Given the description of an element on the screen output the (x, y) to click on. 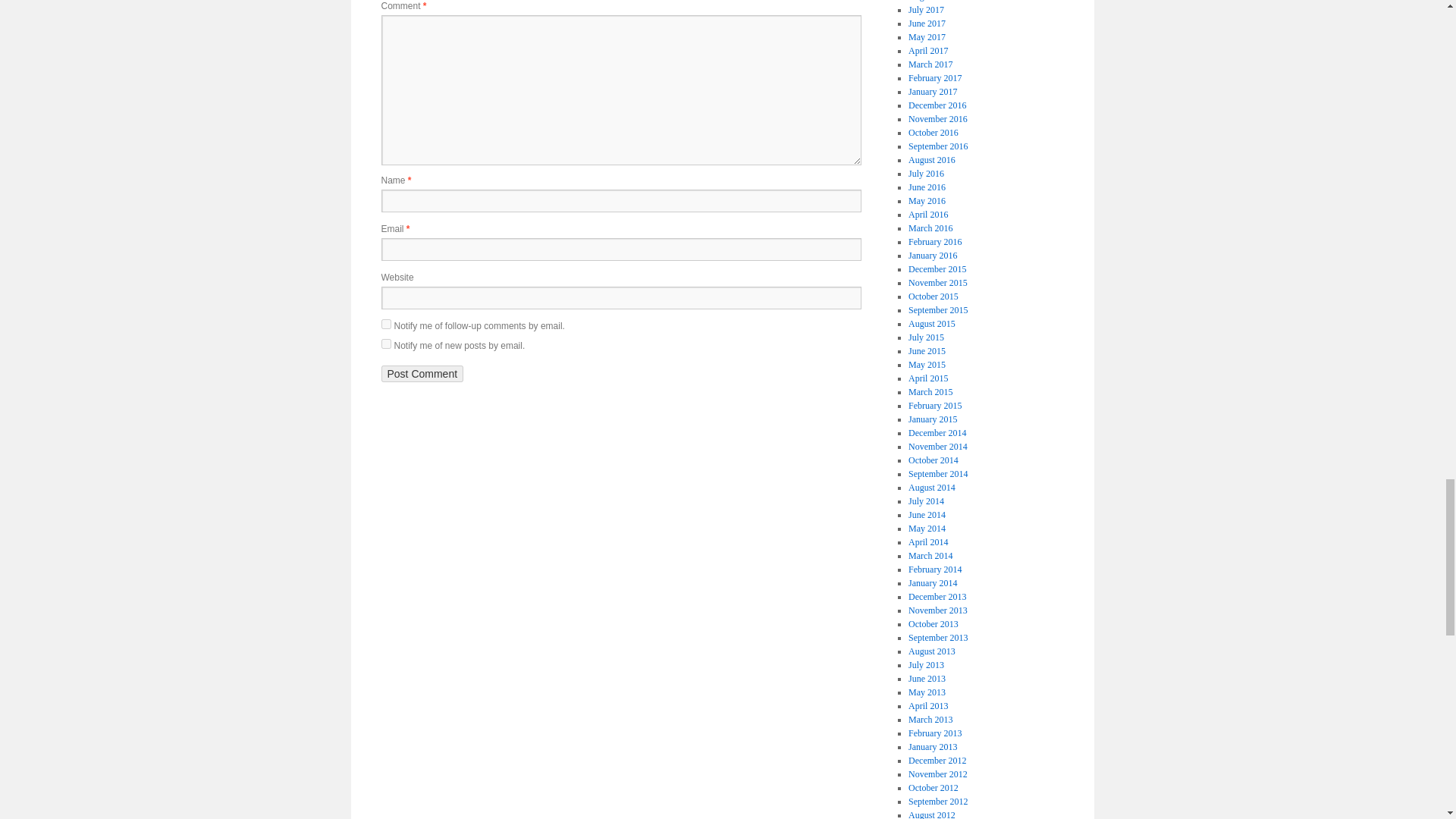
Post Comment (421, 373)
Post Comment (421, 373)
subscribe (385, 343)
subscribe (385, 324)
